Given the description of an element on the screen output the (x, y) to click on. 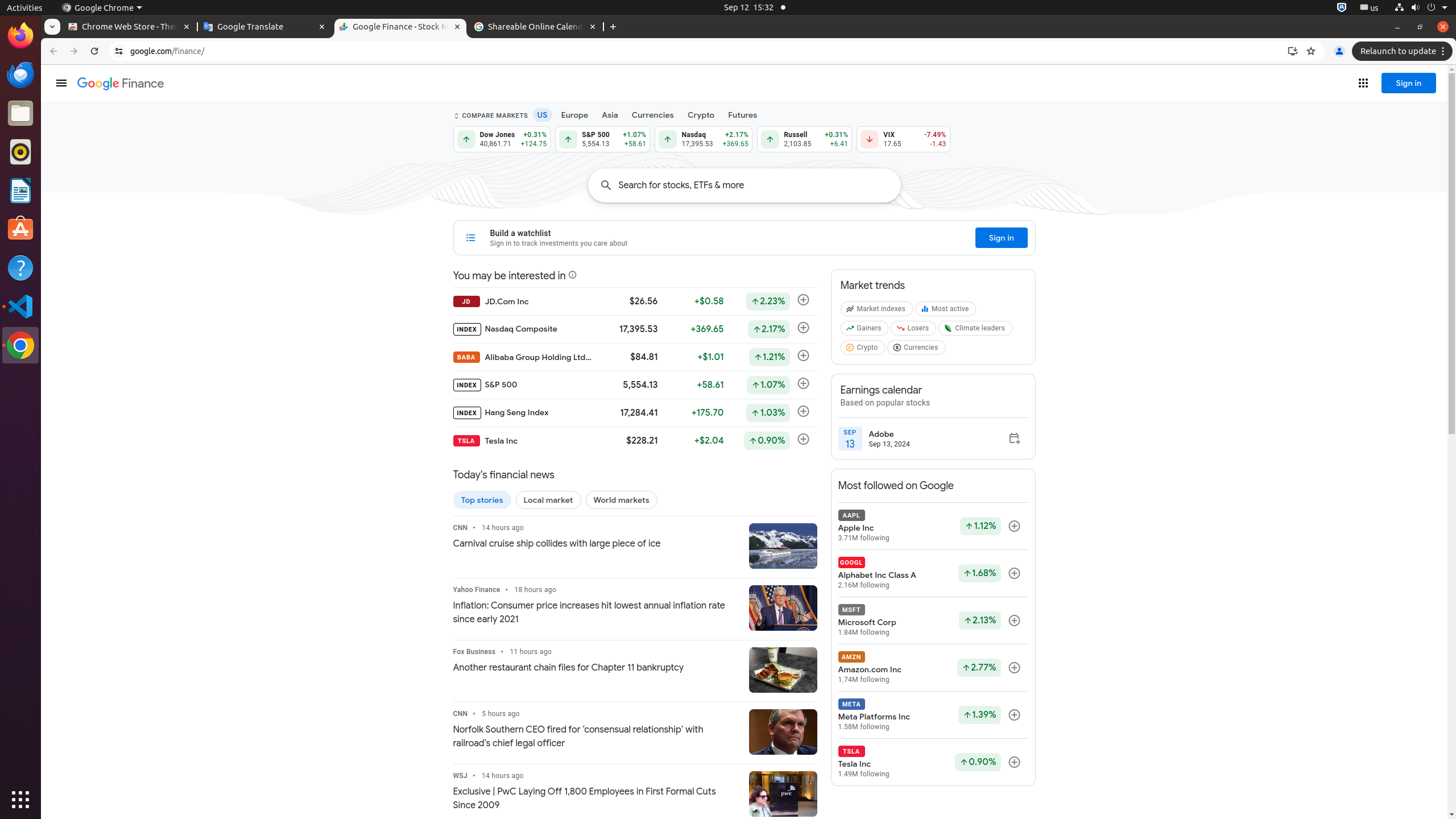
Relaunch to update Element type: push-button (1403, 50)
Currencies Element type: link (917, 349)
S&P 500 5,554.13 Up by 1.07% +58.61 Element type: link (602, 139)
Ubuntu Software Element type: push-button (20, 229)
Most active Element type: link (946, 310)
